Given the description of an element on the screen output the (x, y) to click on. 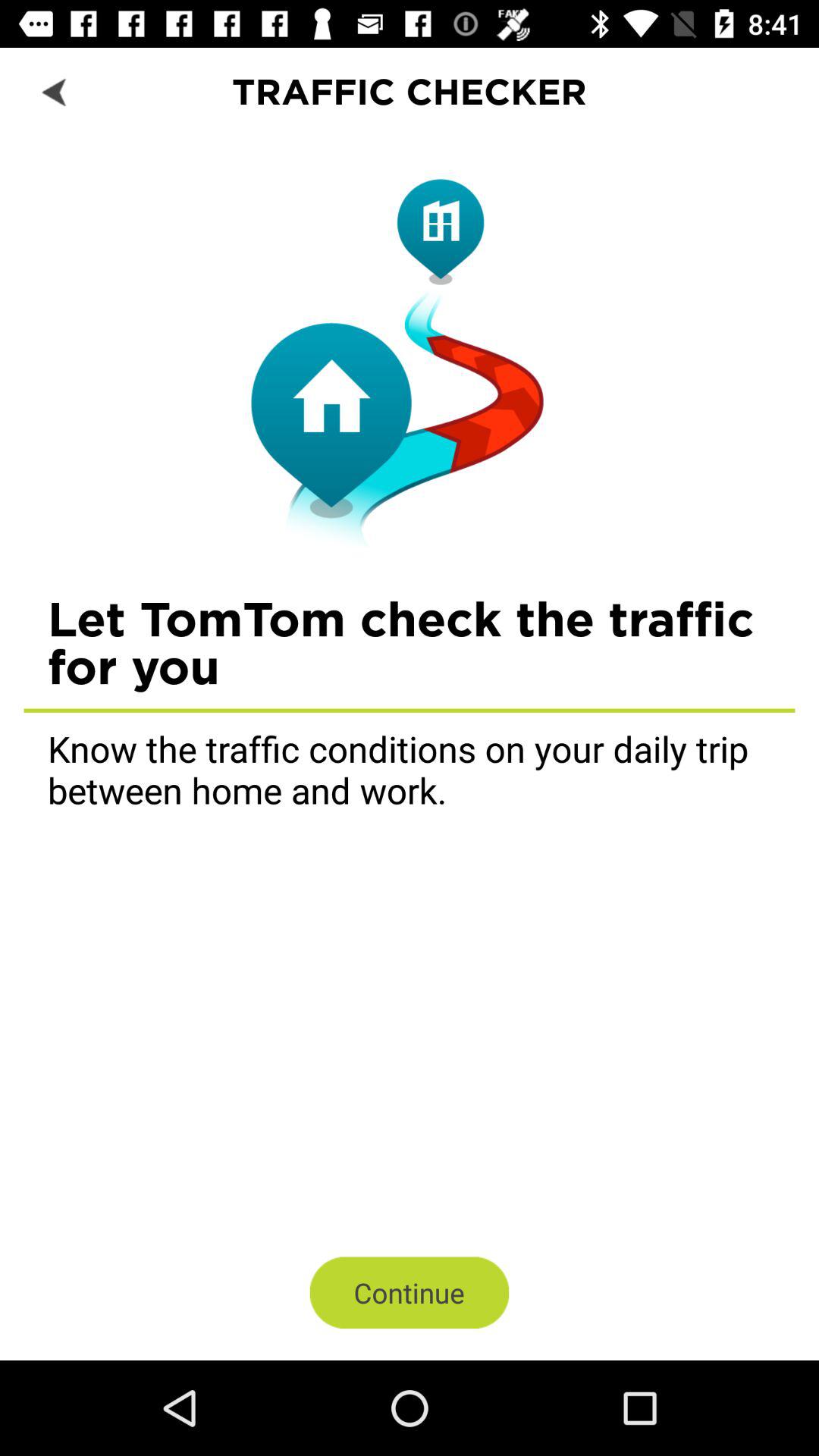
turn on continue icon (409, 1292)
